Given the description of an element on the screen output the (x, y) to click on. 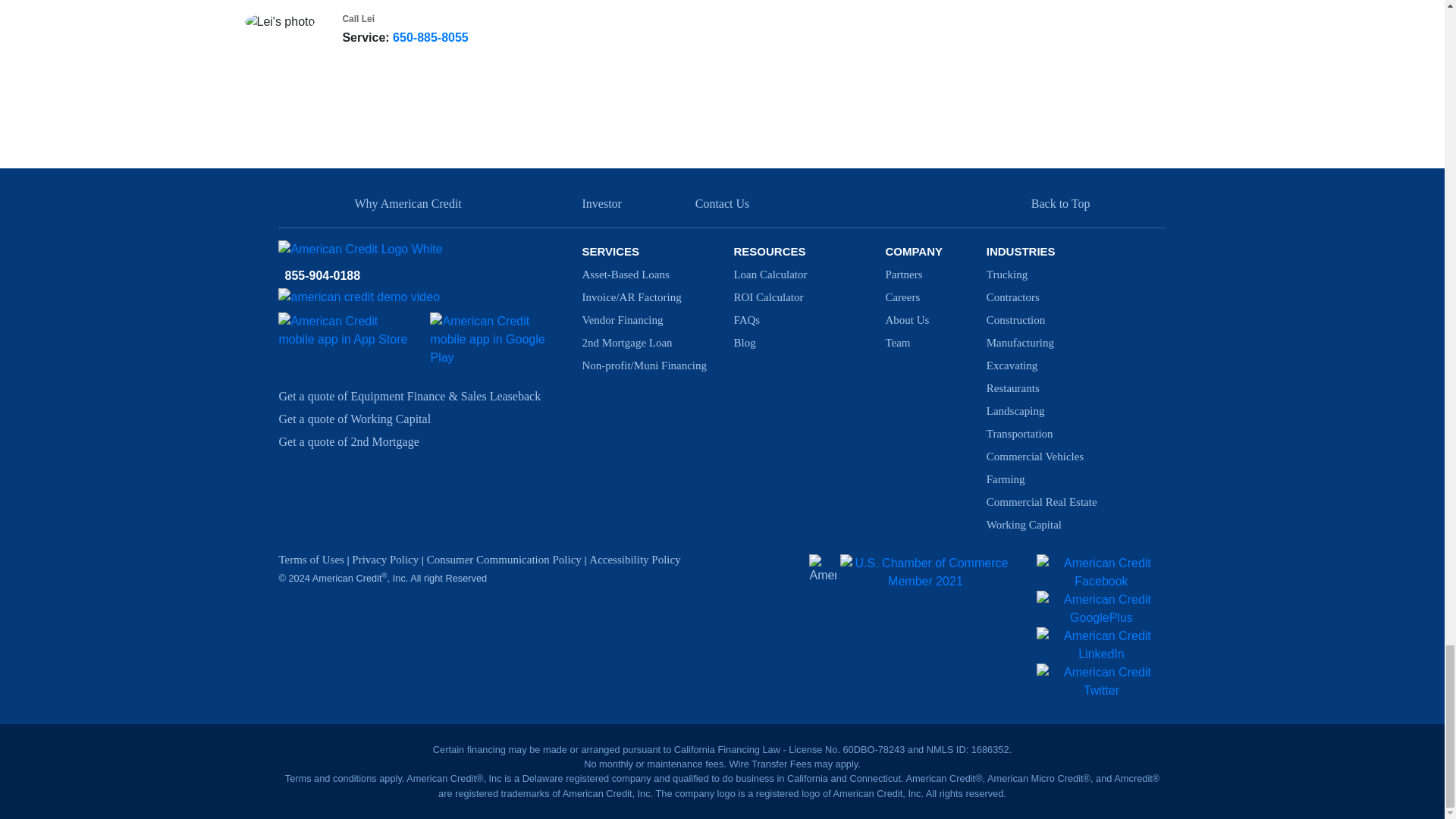
U.S. Chamber of Commerce Member (925, 572)
